Given the description of an element on the screen output the (x, y) to click on. 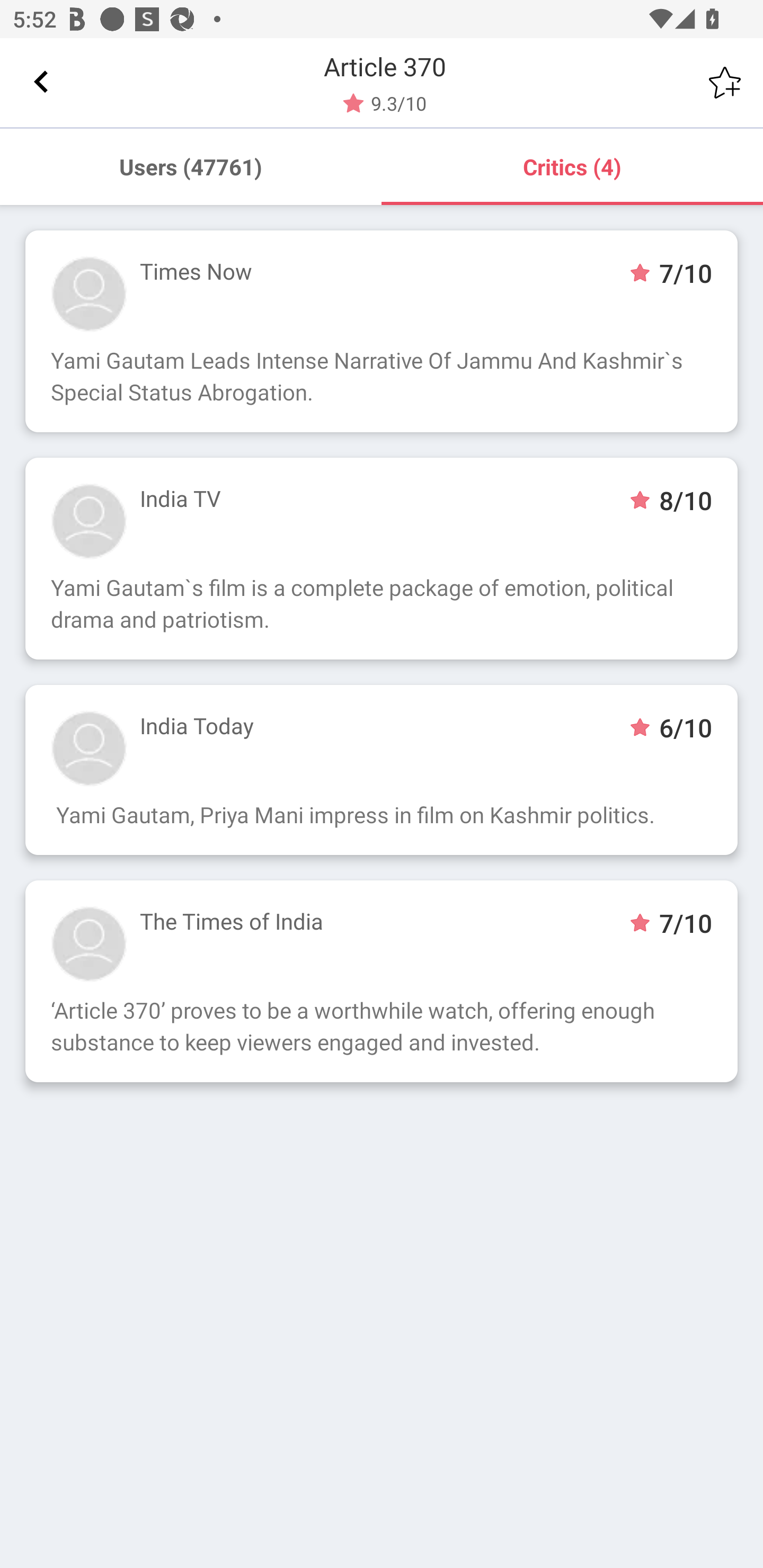
Back (41, 82)
Users (47761) (190, 166)
